Given the description of an element on the screen output the (x, y) to click on. 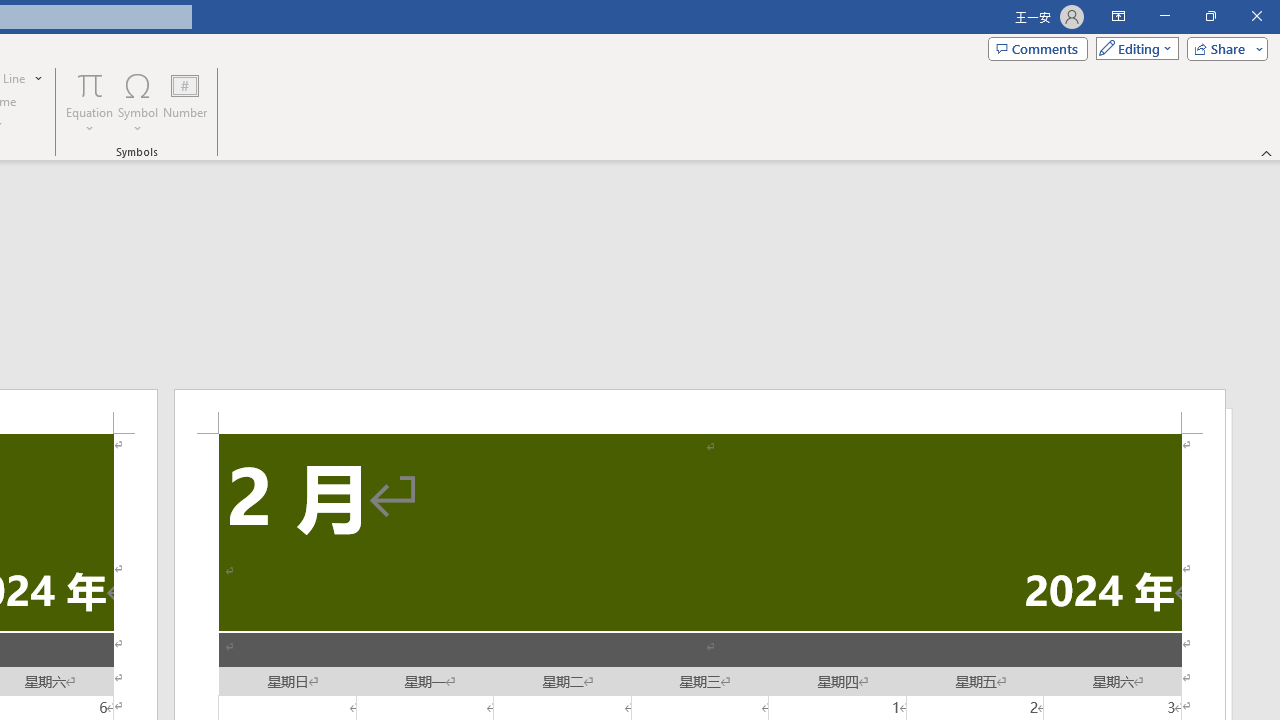
Equation (90, 84)
Equation (90, 102)
Header -Section 2- (700, 411)
Symbol (138, 102)
Number... (185, 102)
